Given the description of an element on the screen output the (x, y) to click on. 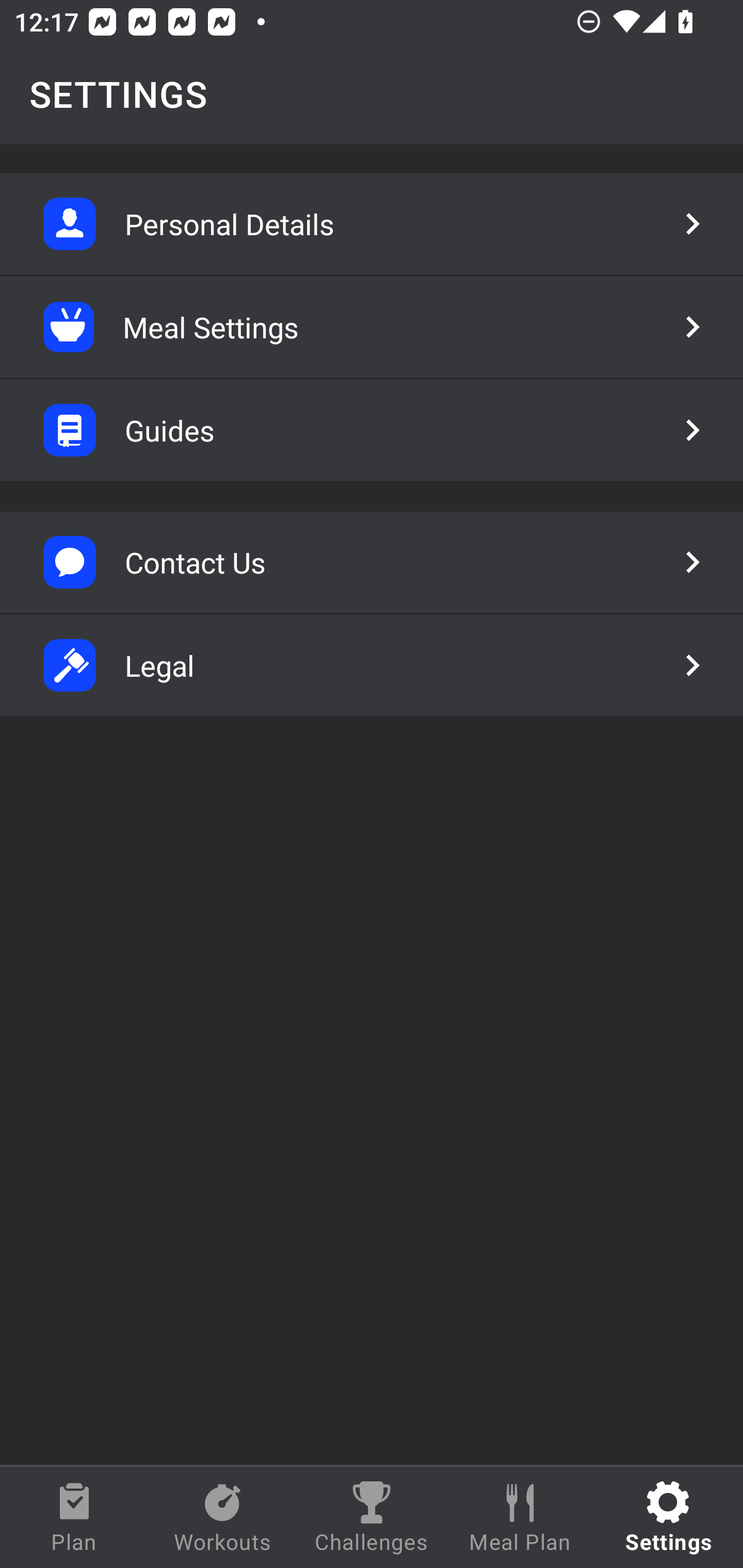
Personal Details (371, 224)
Meal Settings (371, 326)
Guides (371, 430)
Contact Us (371, 562)
Legal (371, 665)
 Plan  (74, 1517)
 Workouts  (222, 1517)
 Challenges  (371, 1517)
 Meal Plan  (519, 1517)
